Given the description of an element on the screen output the (x, y) to click on. 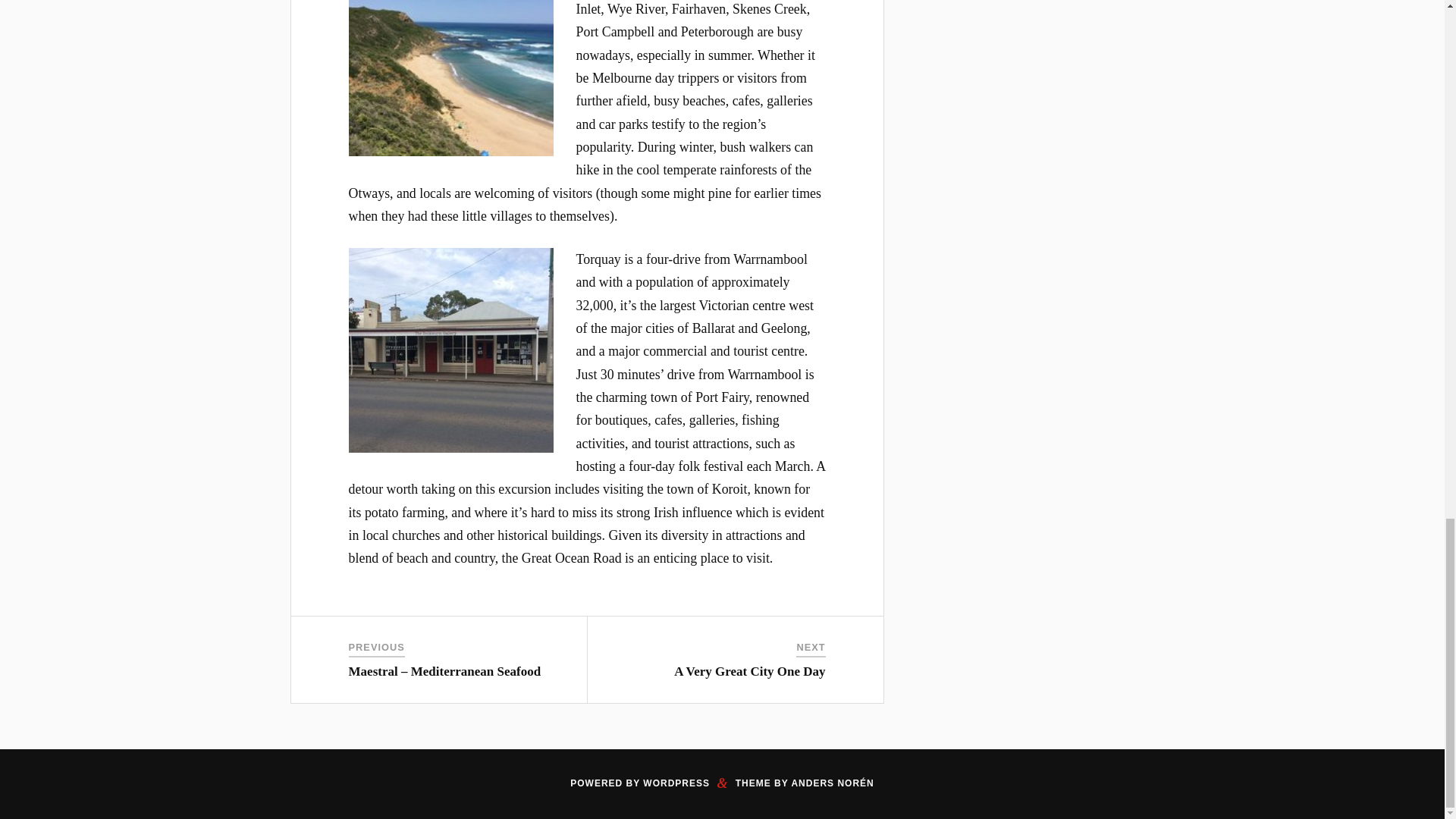
A Very Great City One Day (749, 671)
WORDPRESS (676, 783)
